Given the description of an element on the screen output the (x, y) to click on. 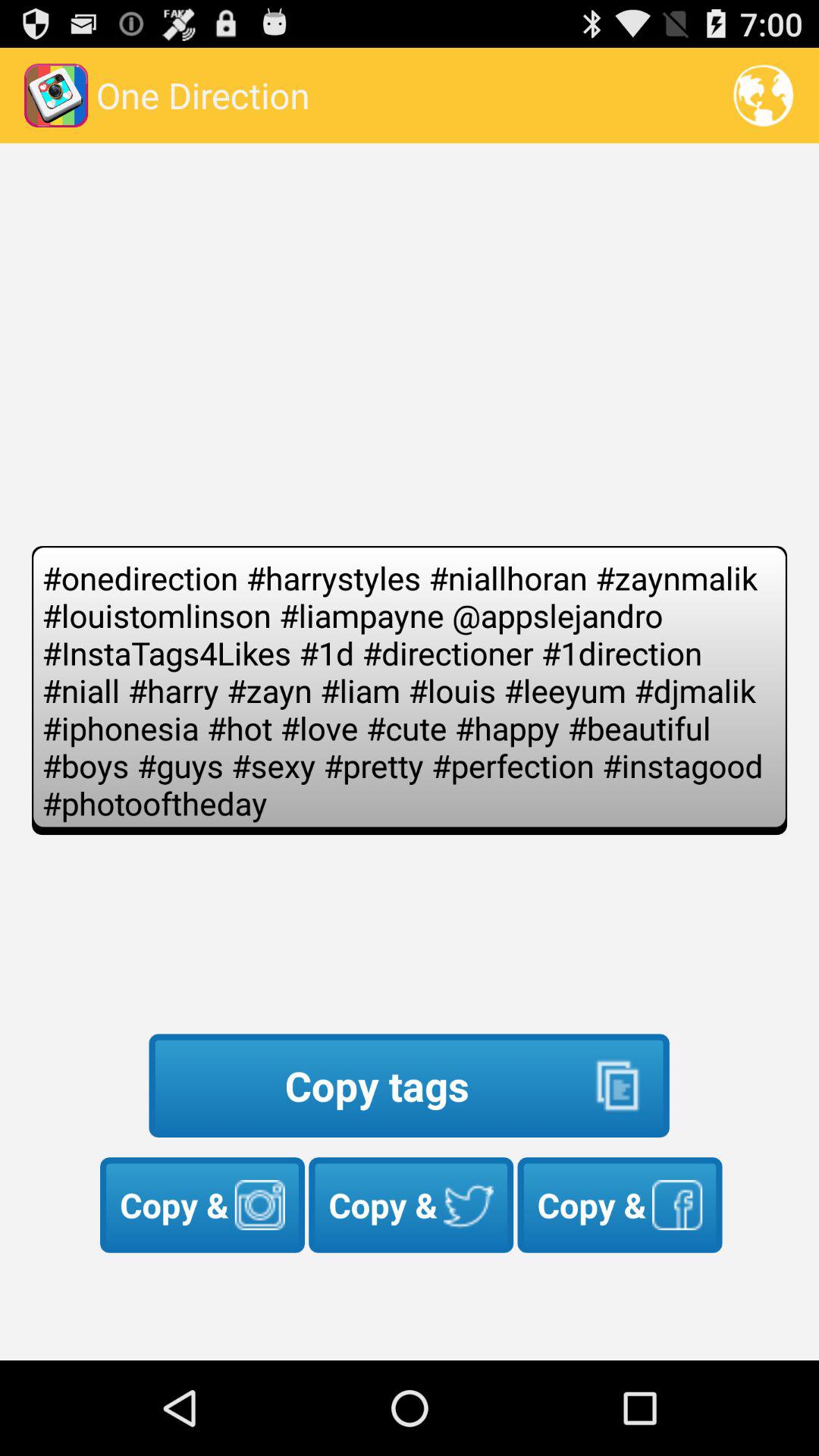
choose the item to the right of one direction icon (763, 95)
